Given the description of an element on the screen output the (x, y) to click on. 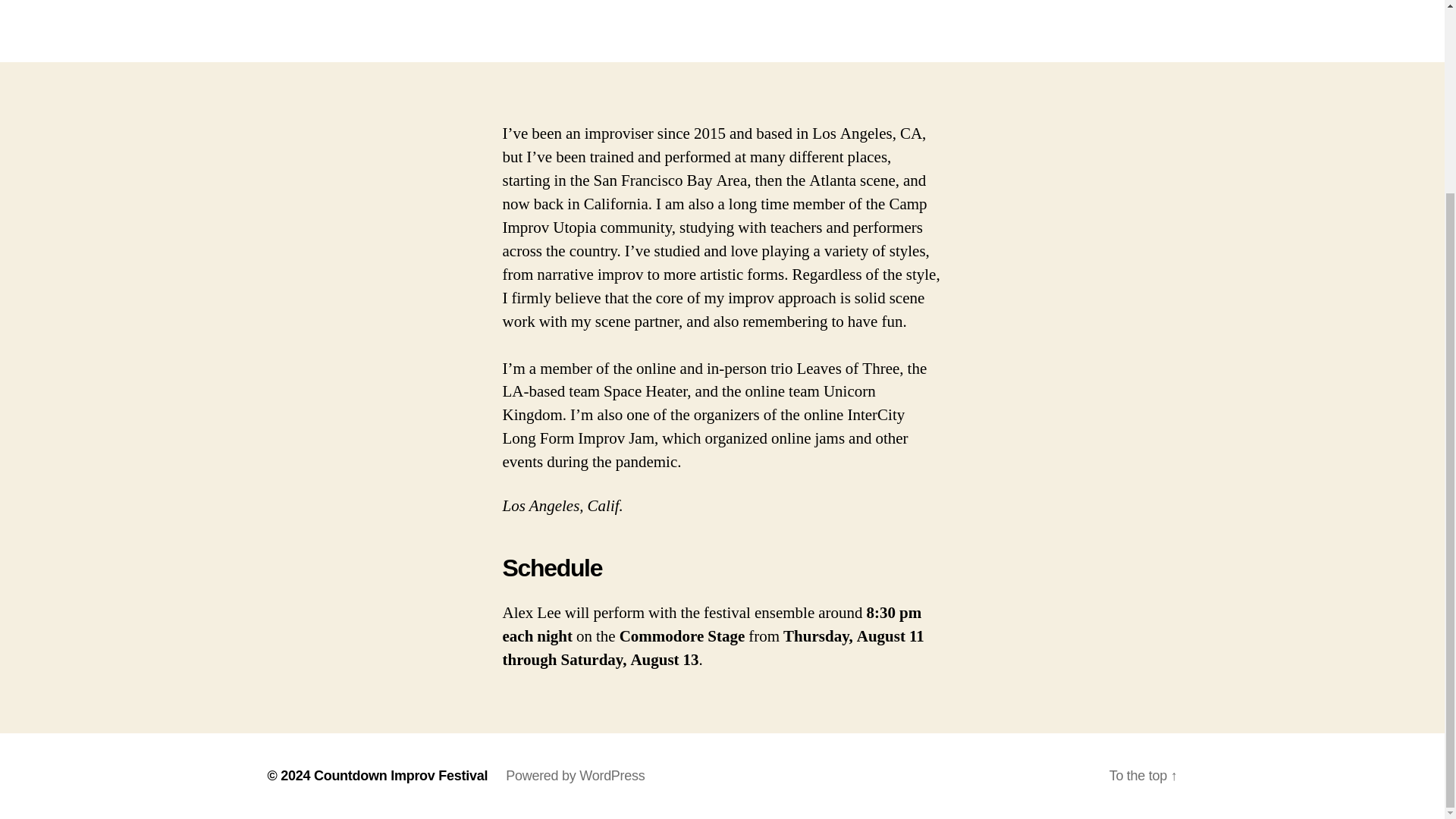
Powered by WordPress (575, 775)
Countdown Improv Festival (400, 775)
